Given the description of an element on the screen output the (x, y) to click on. 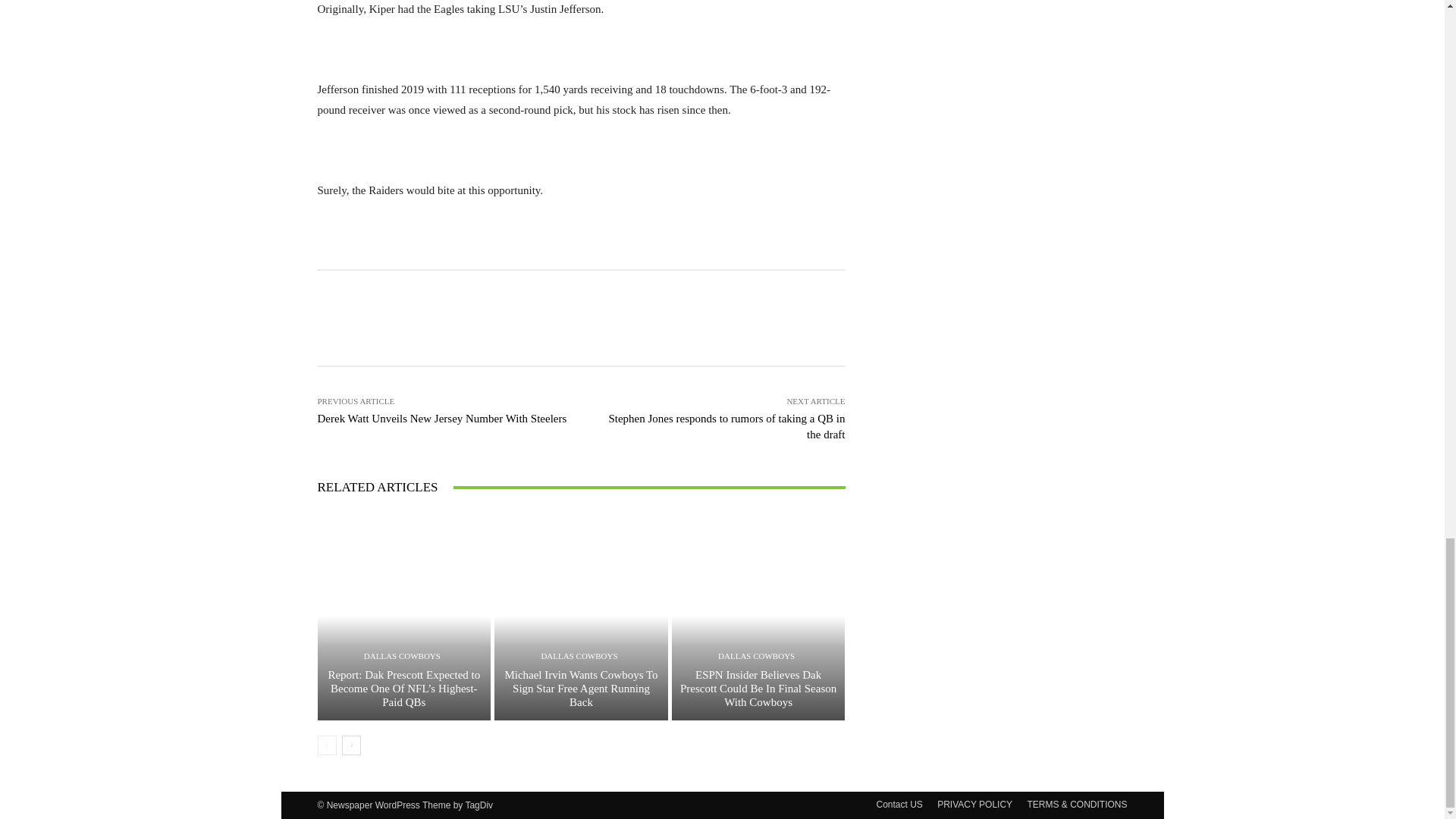
Derek Watt Unveils New Jersey Number With Steelers (441, 418)
DALLAS COWBOYS (578, 655)
Stephen Jones responds to rumors of taking a QB in the draft (726, 426)
DALLAS COWBOYS (402, 655)
